Given the description of an element on the screen output the (x, y) to click on. 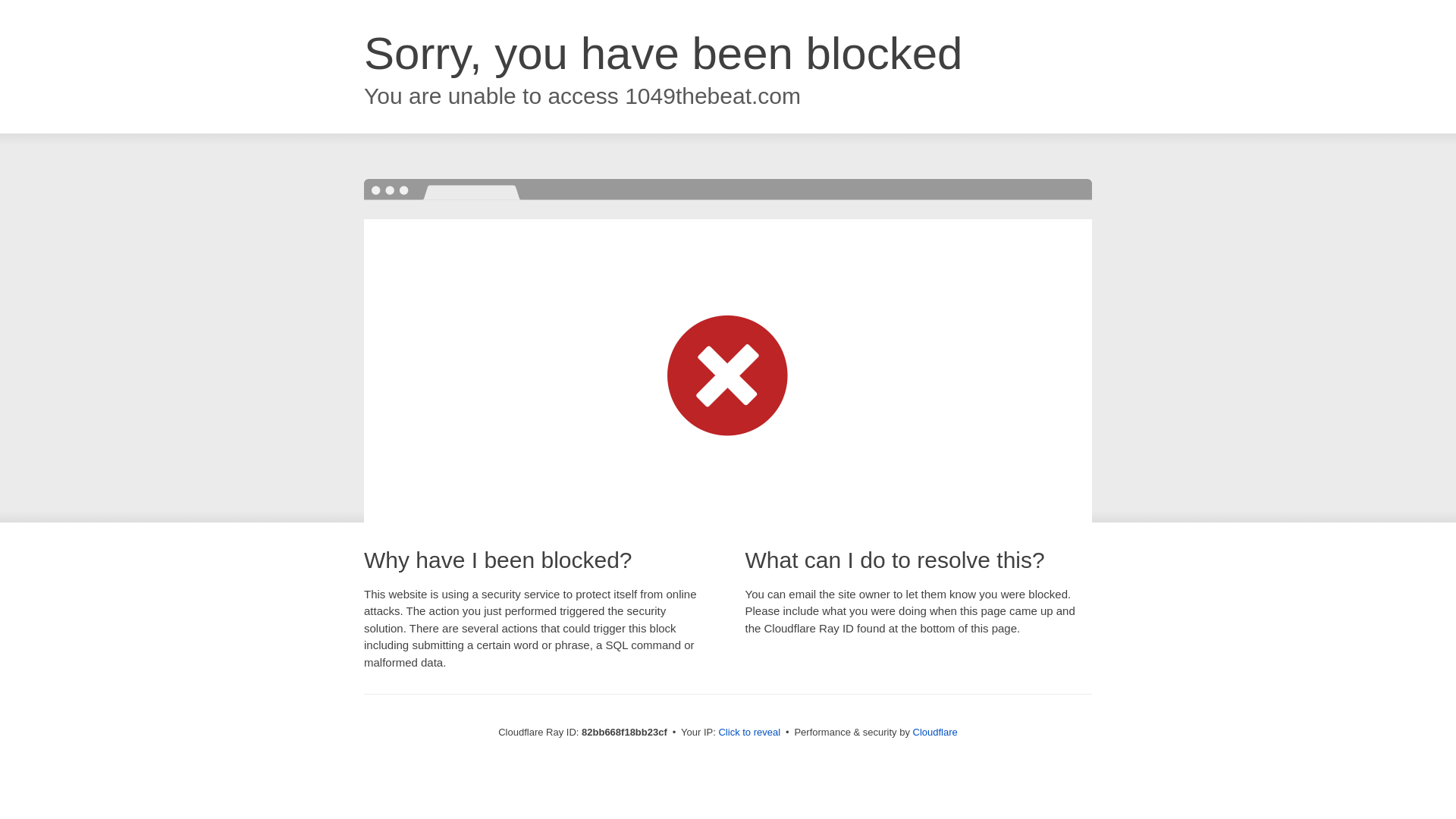
Cloudflare Element type: text (935, 731)
Click to reveal Element type: text (749, 732)
